Given the description of an element on the screen output the (x, y) to click on. 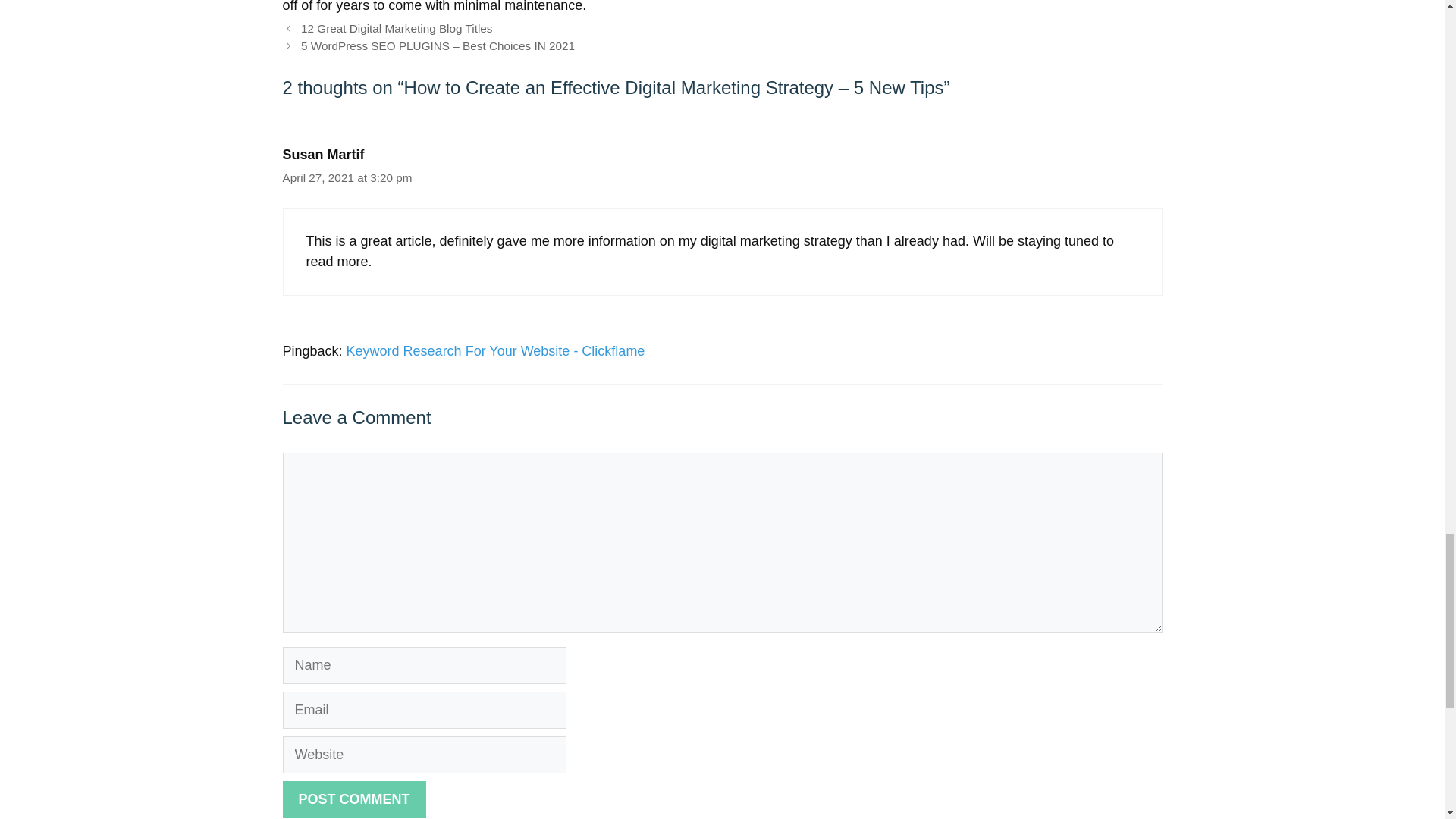
April 27, 2021 at 3:20 pm (347, 177)
12 Great Digital Marketing Blog Titles (397, 28)
Post Comment (353, 799)
Keyword Research For Your Website - Clickflame (495, 350)
Post Comment (353, 799)
